Given the description of an element on the screen output the (x, y) to click on. 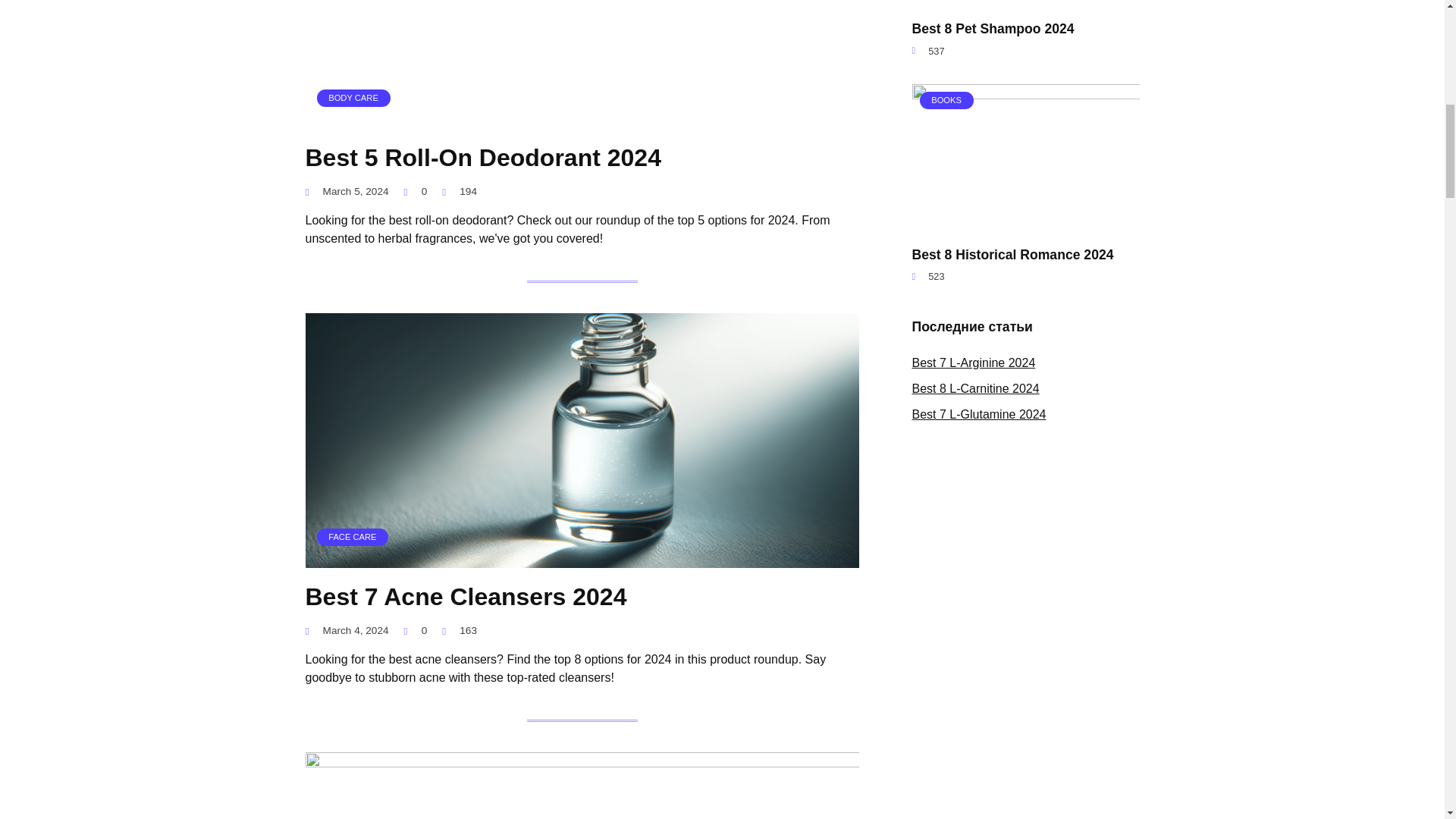
FACE CARE (581, 558)
Best 5 Roll-On Deodorant 2024 (482, 157)
BODY CARE (581, 119)
Best 7 Acne Cleansers 2024 (465, 596)
